Given the description of an element on the screen output the (x, y) to click on. 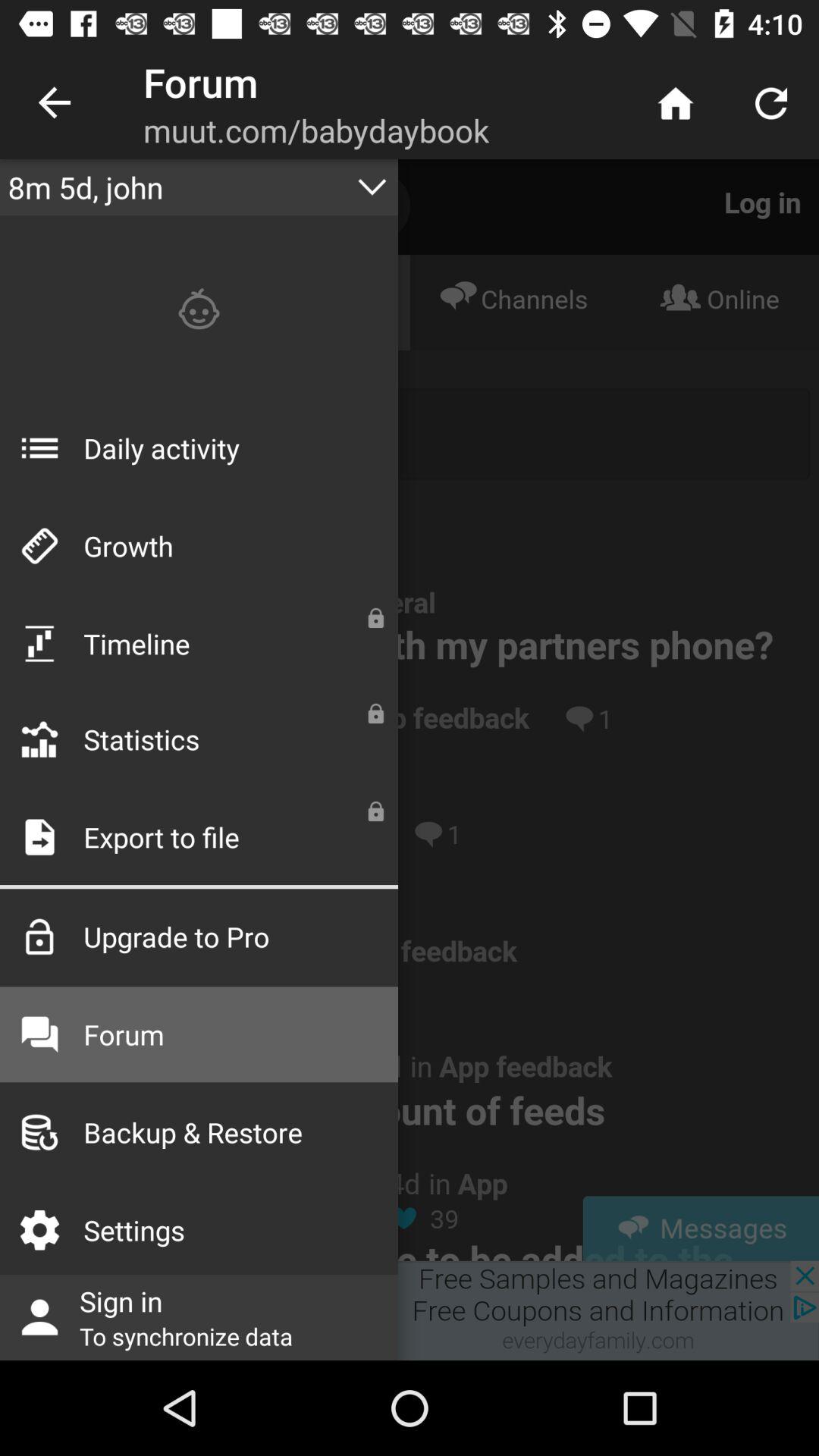
open account sign in page (409, 1310)
